Given the description of an element on the screen output the (x, y) to click on. 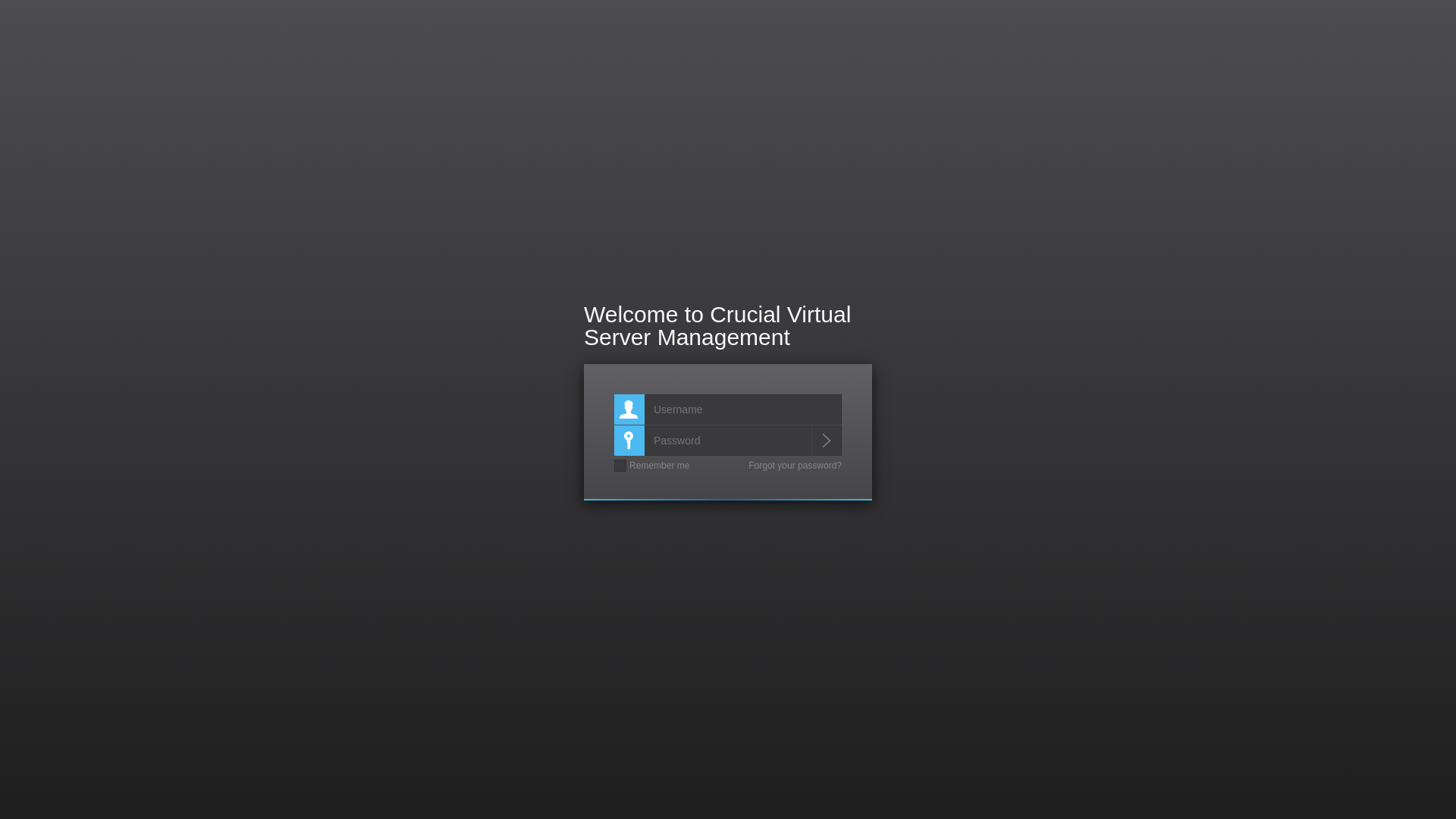
Log In Element type: text (826, 440)
Forgot your password? Element type: text (794, 465)
